Given the description of an element on the screen output the (x, y) to click on. 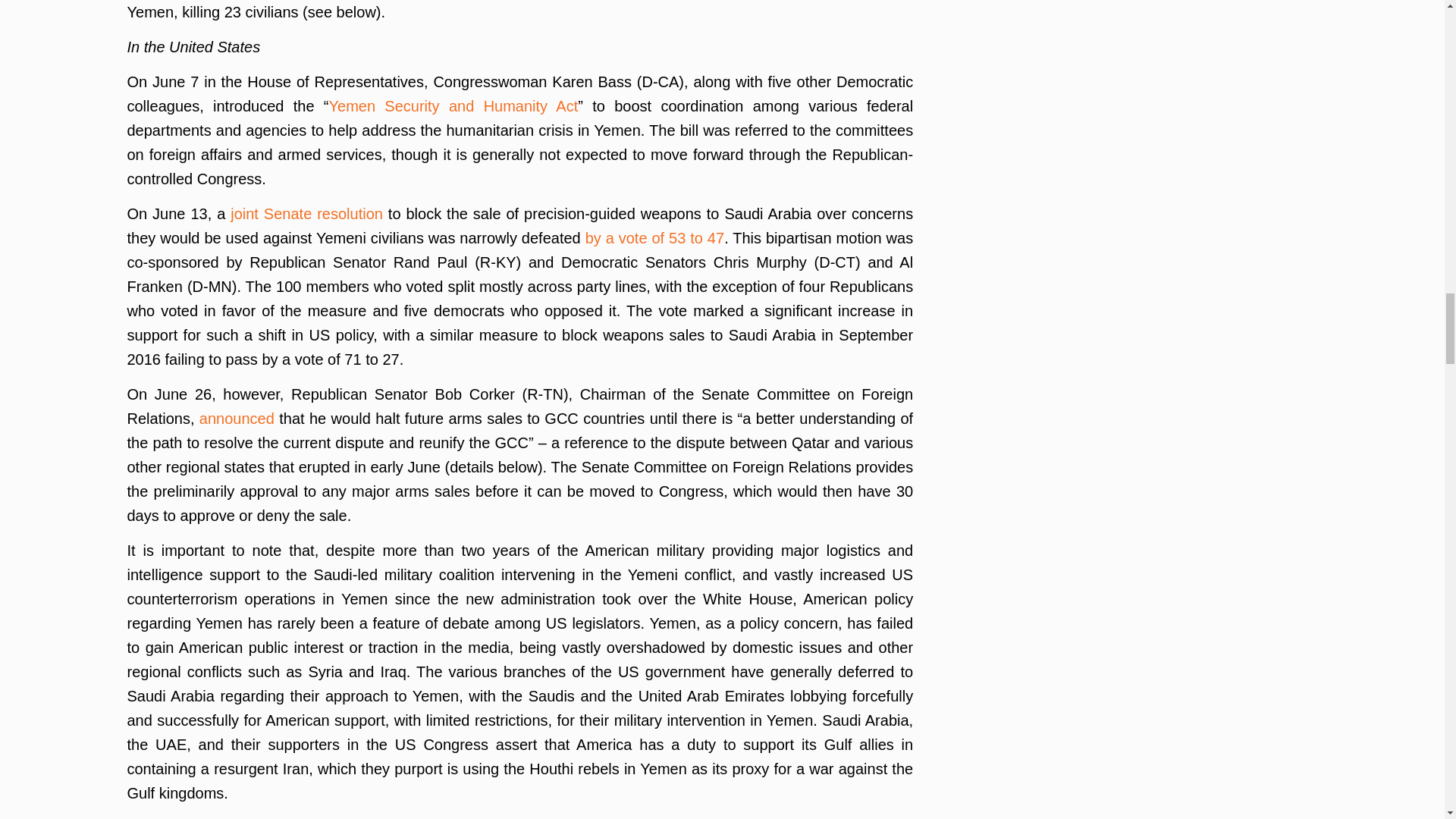
joint Senate resolution (306, 213)
announced (237, 418)
Yemen Security and Humanity Act (453, 105)
by a vote of 53 to 47 (655, 238)
